Given the description of an element on the screen output the (x, y) to click on. 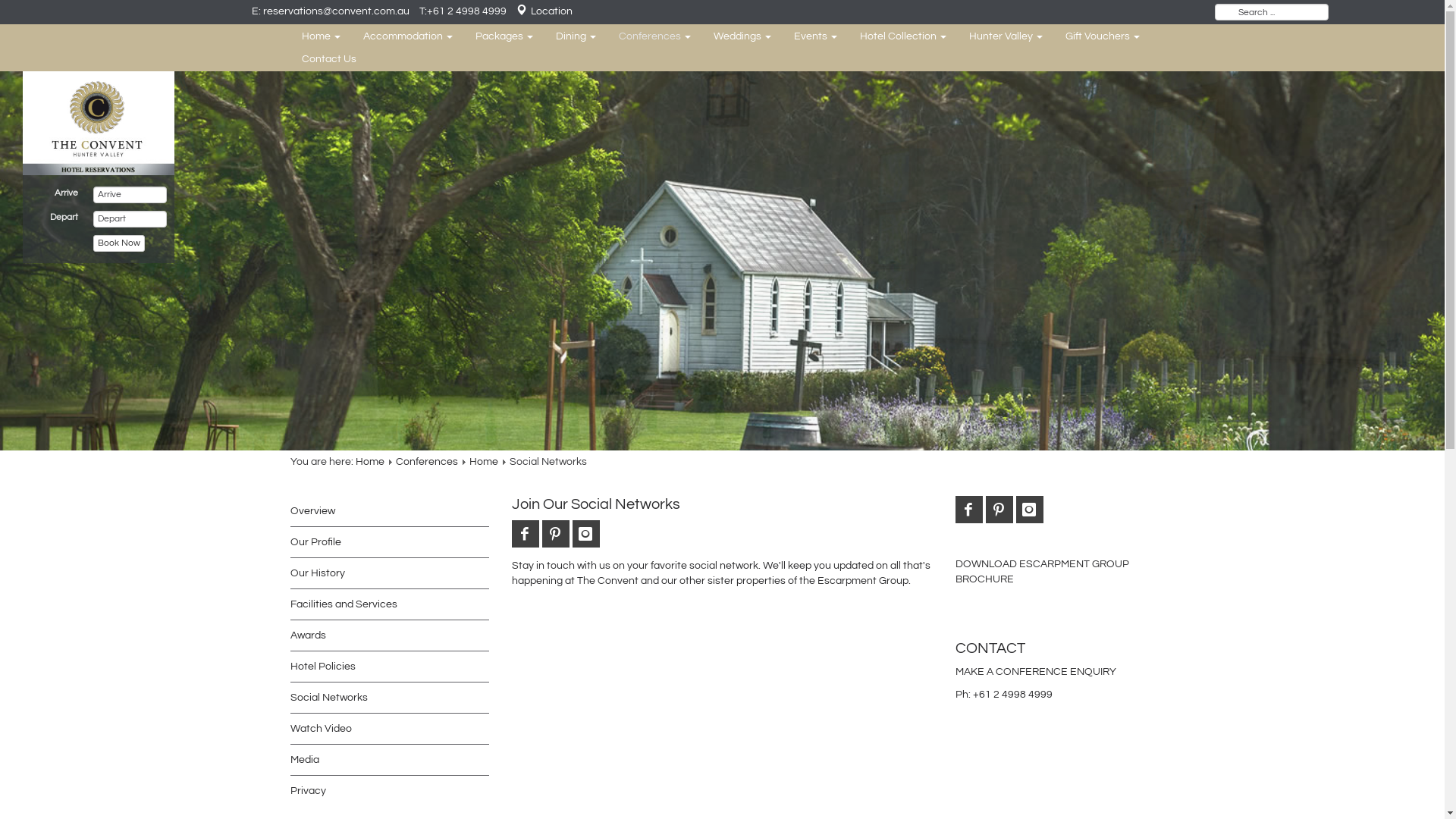
Home Element type: text (320, 36)
Dining Element type: text (575, 36)
Our Profile Element type: text (314, 541)
Packages Element type: text (504, 36)
Conferences Element type: text (426, 461)
Weddings Element type: text (742, 36)
Events Element type: text (815, 36)
Conferences Element type: text (653, 36)
Overview Element type: text (311, 510)
Gift Vouchers Element type: text (1102, 36)
Awards Element type: text (307, 635)
E: reservations@convent.com.au Element type: text (330, 11)
Book Now Element type: text (118, 243)
Facilities and Services Element type: text (342, 604)
Watch Video Element type: text (320, 728)
Our History Element type: text (316, 572)
Hotel Policies Element type: text (321, 666)
Hunter Valley Element type: text (1005, 36)
Home Element type: text (482, 461)
T:+61 2 4998 4999 Element type: text (462, 11)
Social Networks Element type: text (328, 697)
Accommodation Element type: text (407, 36)
Hotel Collection Element type: text (902, 36)
Media Element type: text (303, 759)
Home Element type: text (368, 461)
Privacy Element type: text (307, 790)
Contact Us Element type: text (328, 58)
Location Element type: text (544, 11)
DOWNLOAD ESCARPMENT GROUP BROCHUR Element type: text (1042, 571)
MAKE A CONFERENCE ENQUIRY Element type: text (1035, 671)
